Given the description of an element on the screen output the (x, y) to click on. 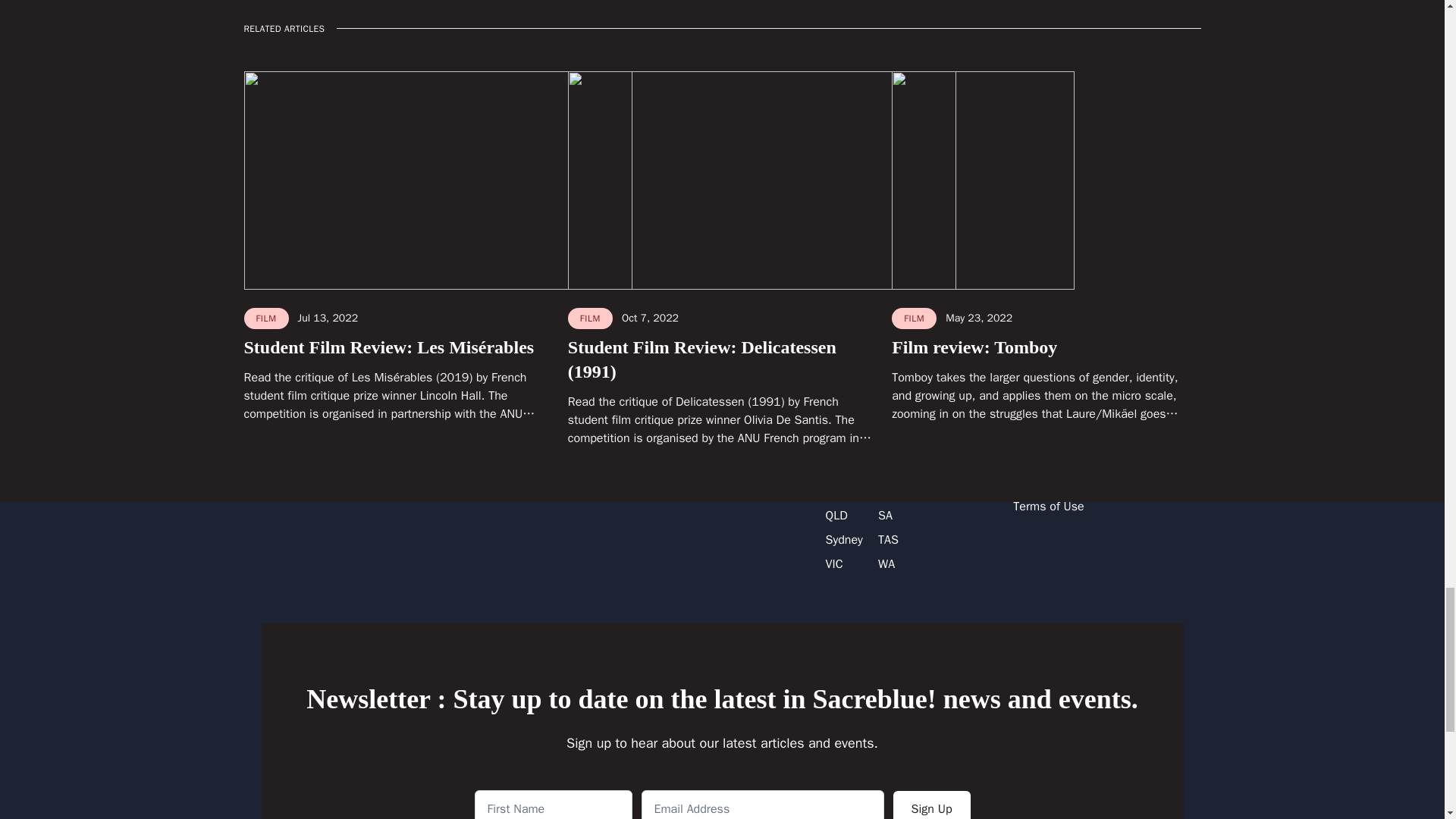
Sign Up (932, 805)
